Given the description of an element on the screen output the (x, y) to click on. 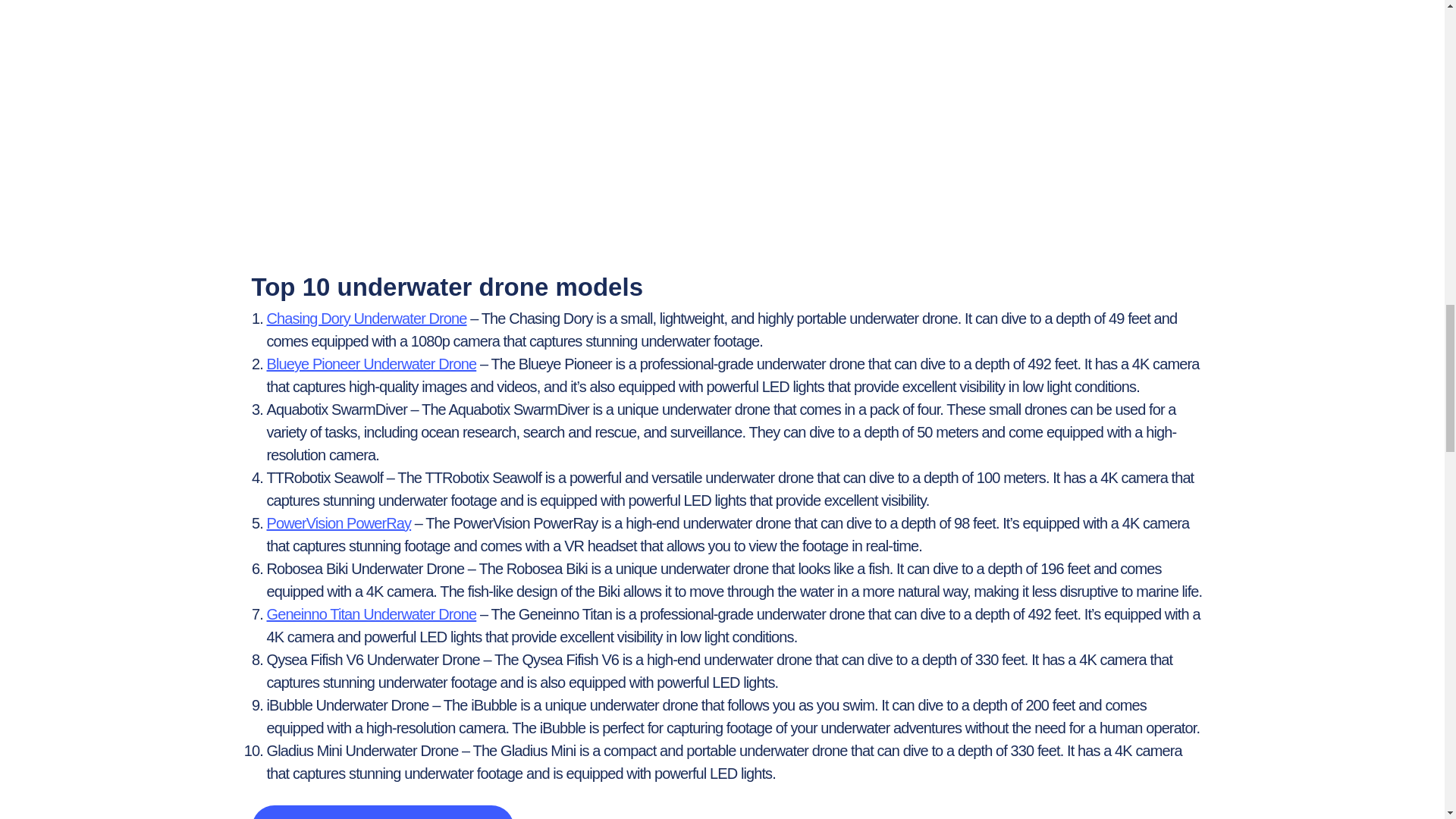
Watch Drone Video On TV (383, 812)
Chasing Dory Underwater Drone (366, 318)
Geneinno Titan Underwater Drone (371, 614)
Blueye Pioneer Underwater Drone (371, 363)
PowerVision PowerRay (339, 523)
